Given the description of an element on the screen output the (x, y) to click on. 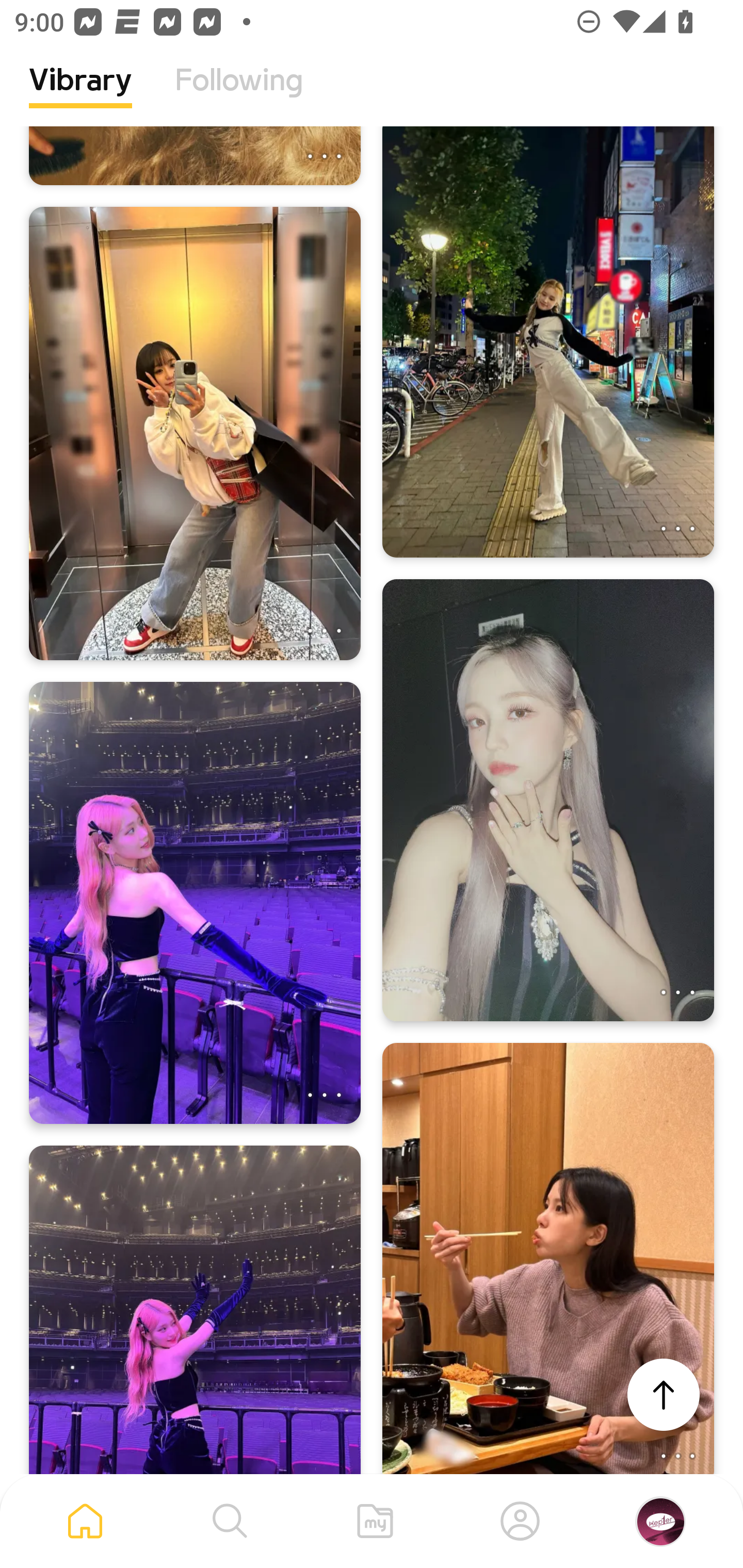
Vibrary (80, 95)
Following (239, 95)
